Given the description of an element on the screen output the (x, y) to click on. 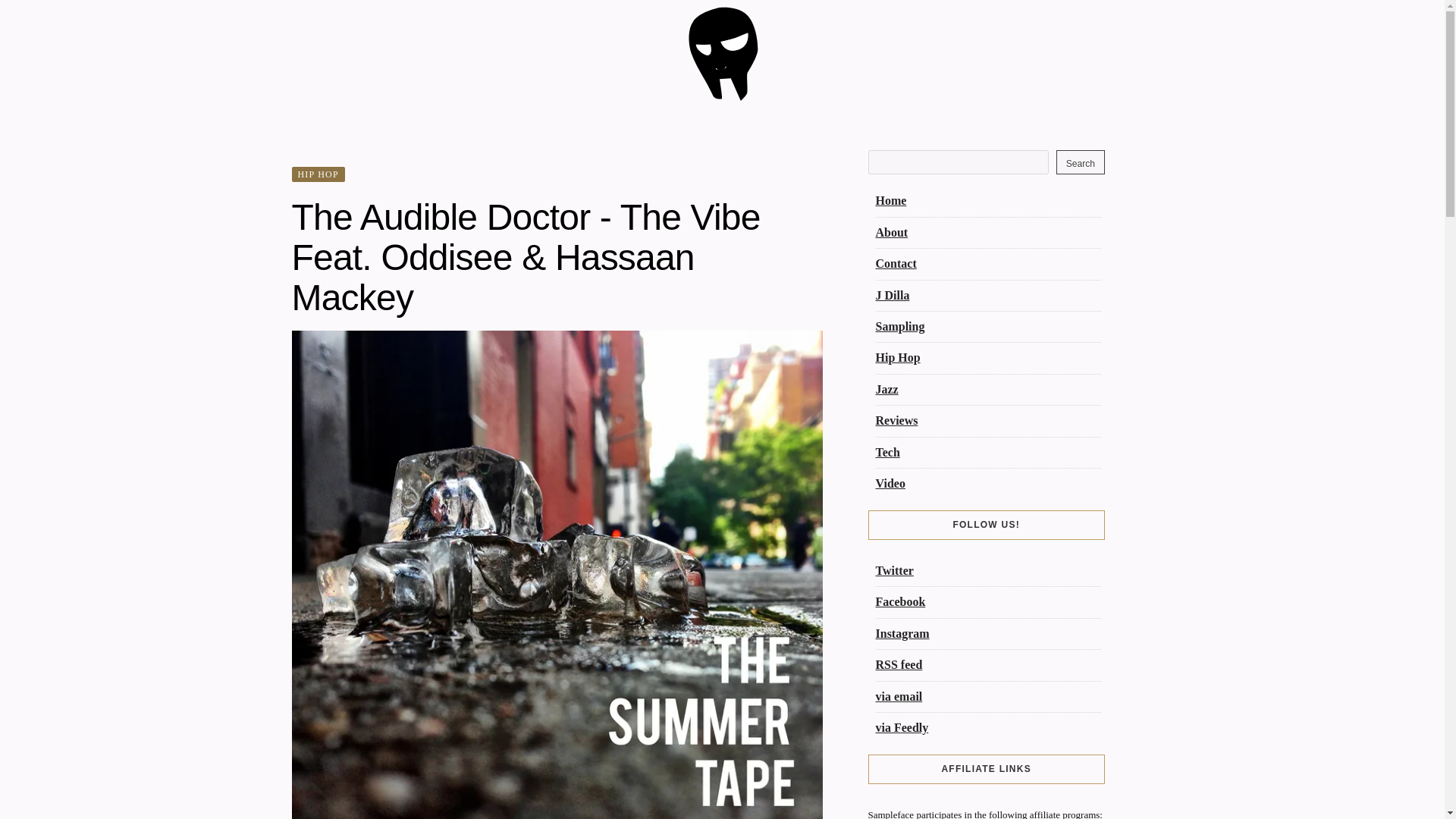
Search (1081, 161)
via email (898, 696)
Jazz (886, 389)
Hip Hop (897, 357)
Instagram (901, 633)
About (891, 232)
Contact (895, 263)
Video (889, 482)
Twitter (893, 570)
Home (890, 200)
